Given the description of an element on the screen output the (x, y) to click on. 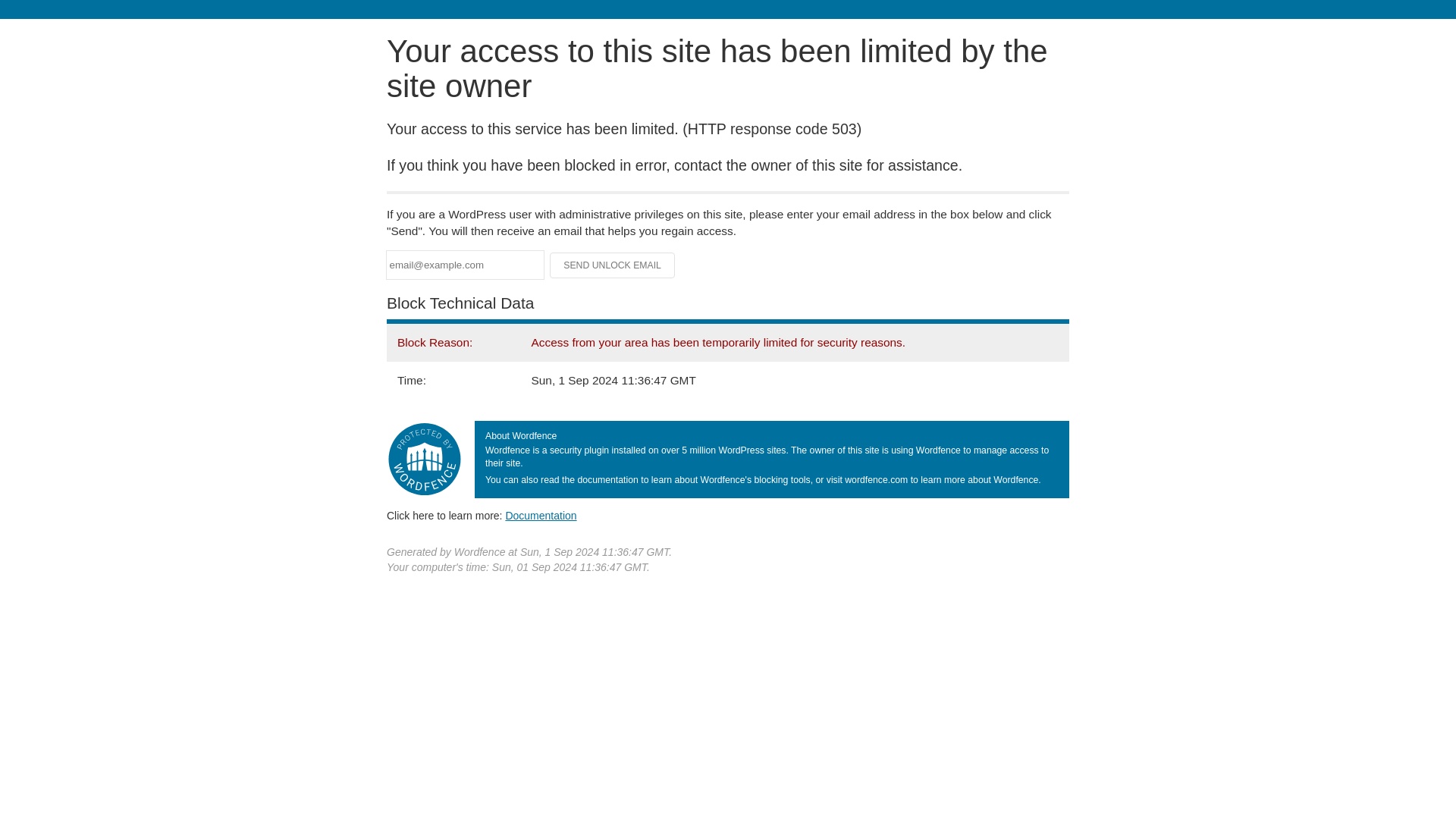
Documentation (540, 515)
Send Unlock Email (612, 265)
Send Unlock Email (612, 265)
